Given the description of an element on the screen output the (x, y) to click on. 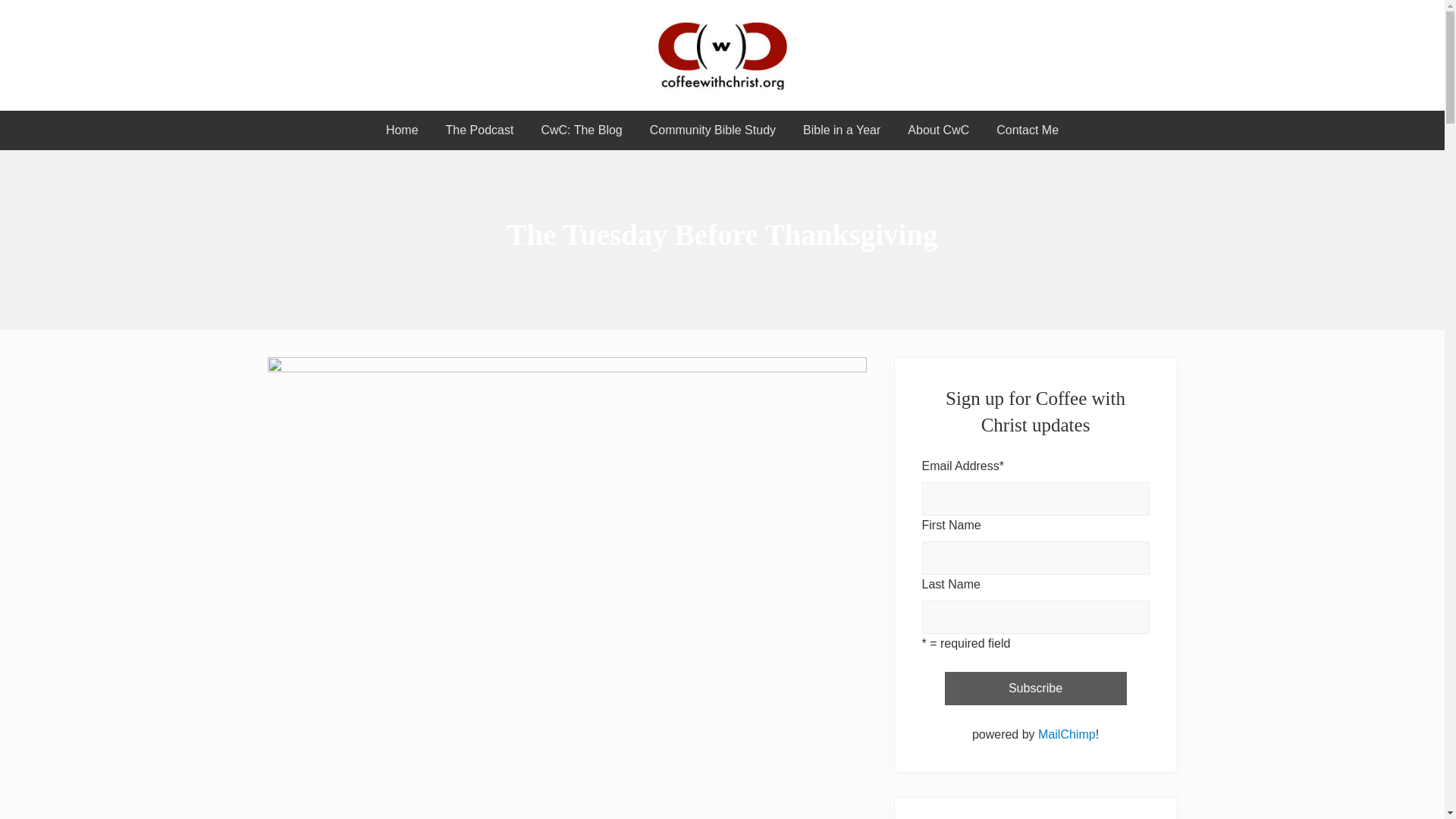
Community Bible Study (712, 129)
Subscribe (1035, 688)
Subscribe (1035, 688)
CwC: The Blog (580, 129)
Home (402, 129)
About CwC (937, 129)
Contact Me (1026, 129)
The Podcast (479, 129)
Bible in a Year (841, 129)
